Given the description of an element on the screen output the (x, y) to click on. 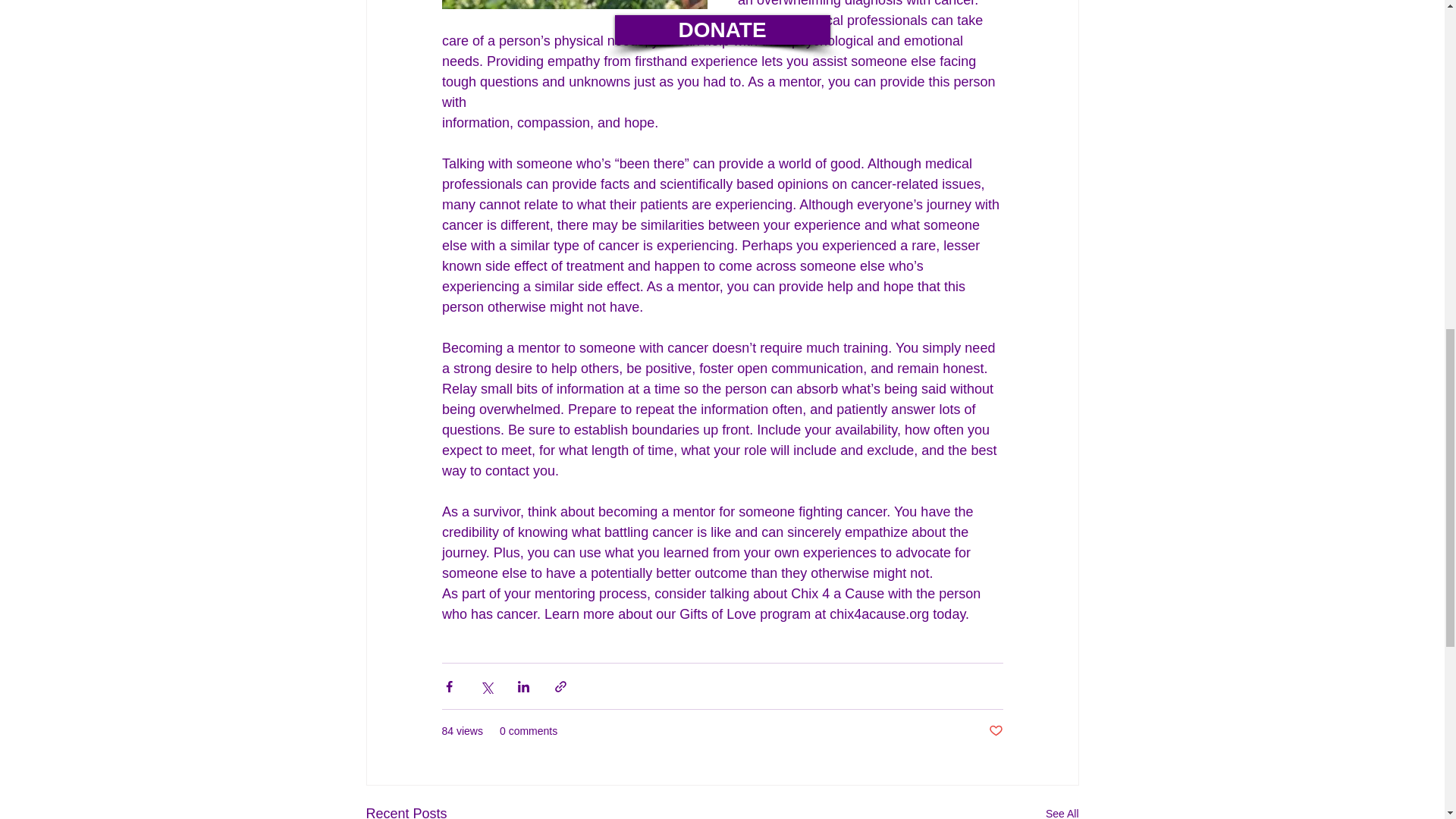
Post not marked as liked (995, 731)
See All (1061, 811)
